Given the description of an element on the screen output the (x, y) to click on. 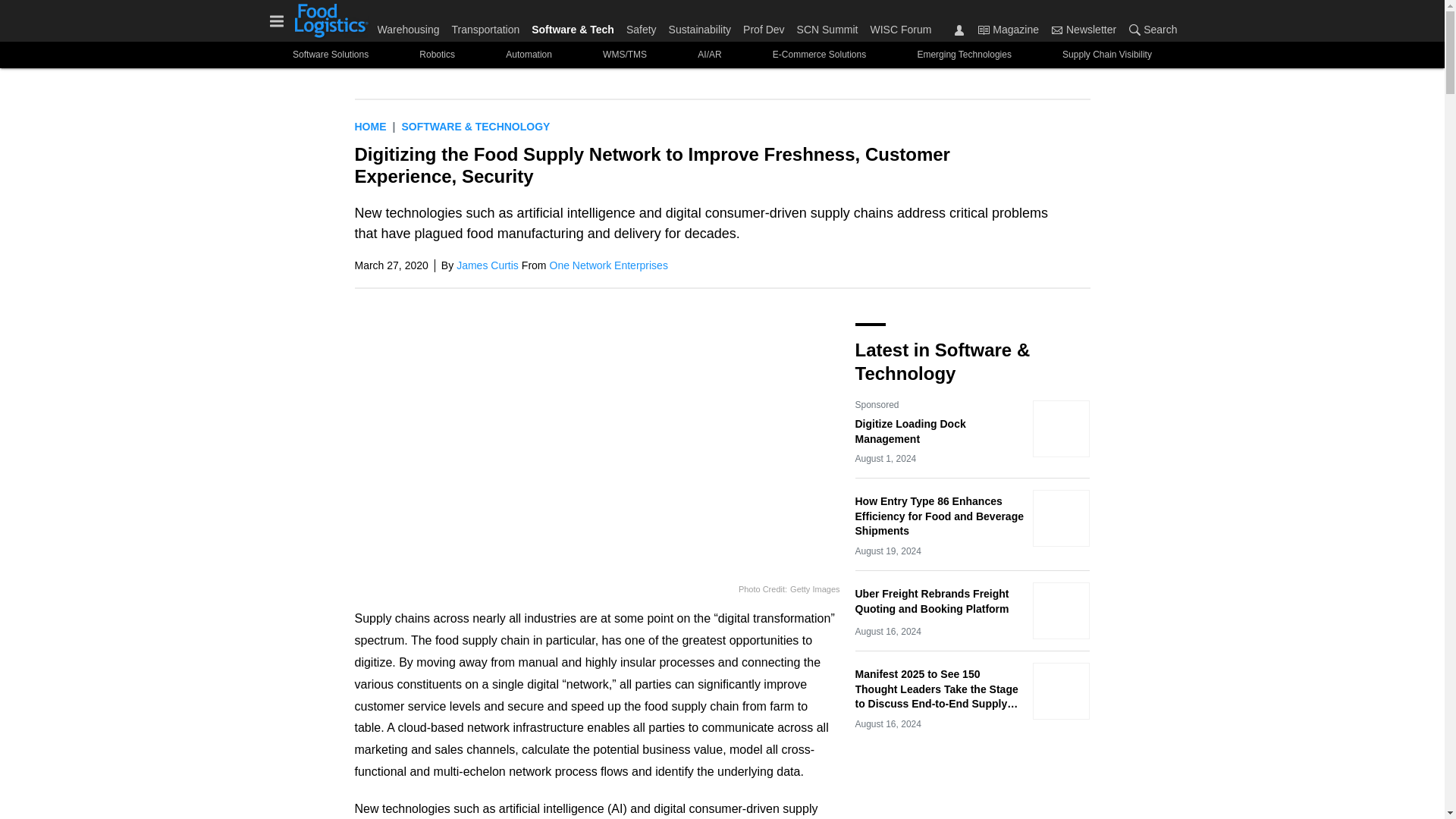
Transportation (485, 26)
Safety (641, 26)
SCN Summit (827, 26)
Supply Chain Visibility (1107, 54)
Robotics (437, 54)
Search (1149, 29)
Prof Dev (763, 26)
Magazine (983, 29)
WISC Forum (897, 26)
Sign In (959, 29)
